Given the description of an element on the screen output the (x, y) to click on. 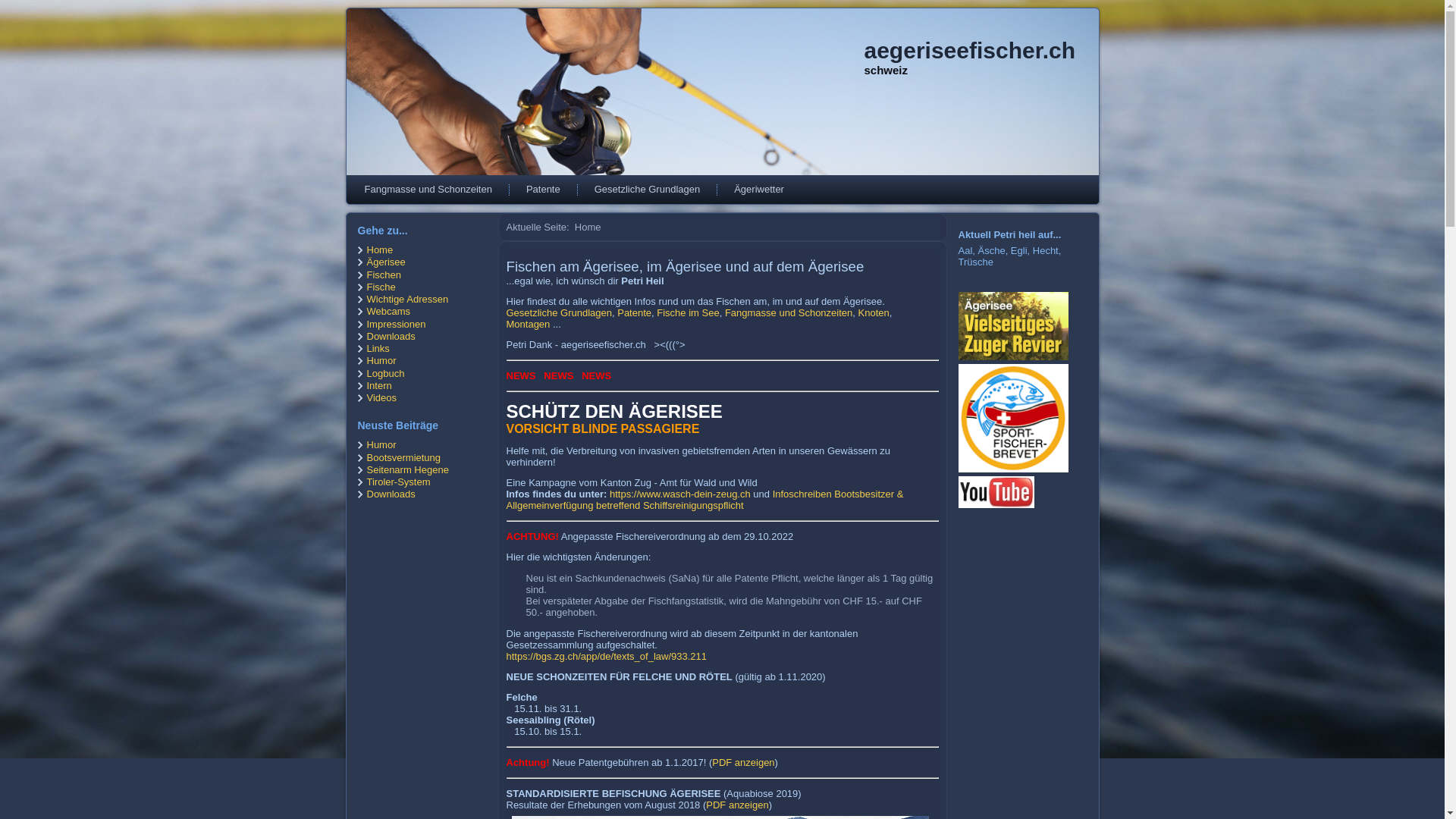
Humor Element type: text (381, 360)
Montagen Element type: text (528, 323)
YouTube aegeriseefischer Element type: hover (998, 477)
Intern Element type: text (379, 385)
Seitenarm Hegene Element type: text (407, 469)
Gesetzliche Grundlagen Element type: text (558, 312)
Fangmasse und Schonzeiten Element type: text (427, 189)
Home Element type: text (380, 249)
Downloads Element type: text (391, 336)
PDF anzeigen Element type: text (737, 804)
Tiroler-System Element type: text (398, 481)
Videos Element type: text (382, 397)
Fischen Element type: text (384, 273)
Wichtige Adressen Element type: text (407, 298)
Gesetzliche Grundlagen Element type: text (646, 189)
Impressionen Element type: text (396, 323)
Links Element type: text (378, 348)
https://www.wasch-dein-zeug.ch Element type: text (679, 493)
Patente Element type: text (634, 312)
Sport-Fischer-Brevet Element type: hover (1015, 468)
Knoten Element type: text (873, 312)
Logbuch Element type: text (385, 372)
Fangmasse und Schonzeiten Element type: text (788, 312)
Patente Element type: text (543, 189)
Fische Element type: text (381, 286)
aegeriseefischer.ch Element type: text (970, 49)
Webcams Element type: text (389, 310)
Bootsvermietung Element type: text (404, 457)
Humor Element type: text (381, 444)
https://bgs.zg.ch/app/de/texts_of_law/933.211 Element type: text (606, 656)
PDF anzeigen Element type: text (743, 762)
Fische im See Element type: text (687, 312)
Downloads Element type: text (391, 493)
